Given the description of an element on the screen output the (x, y) to click on. 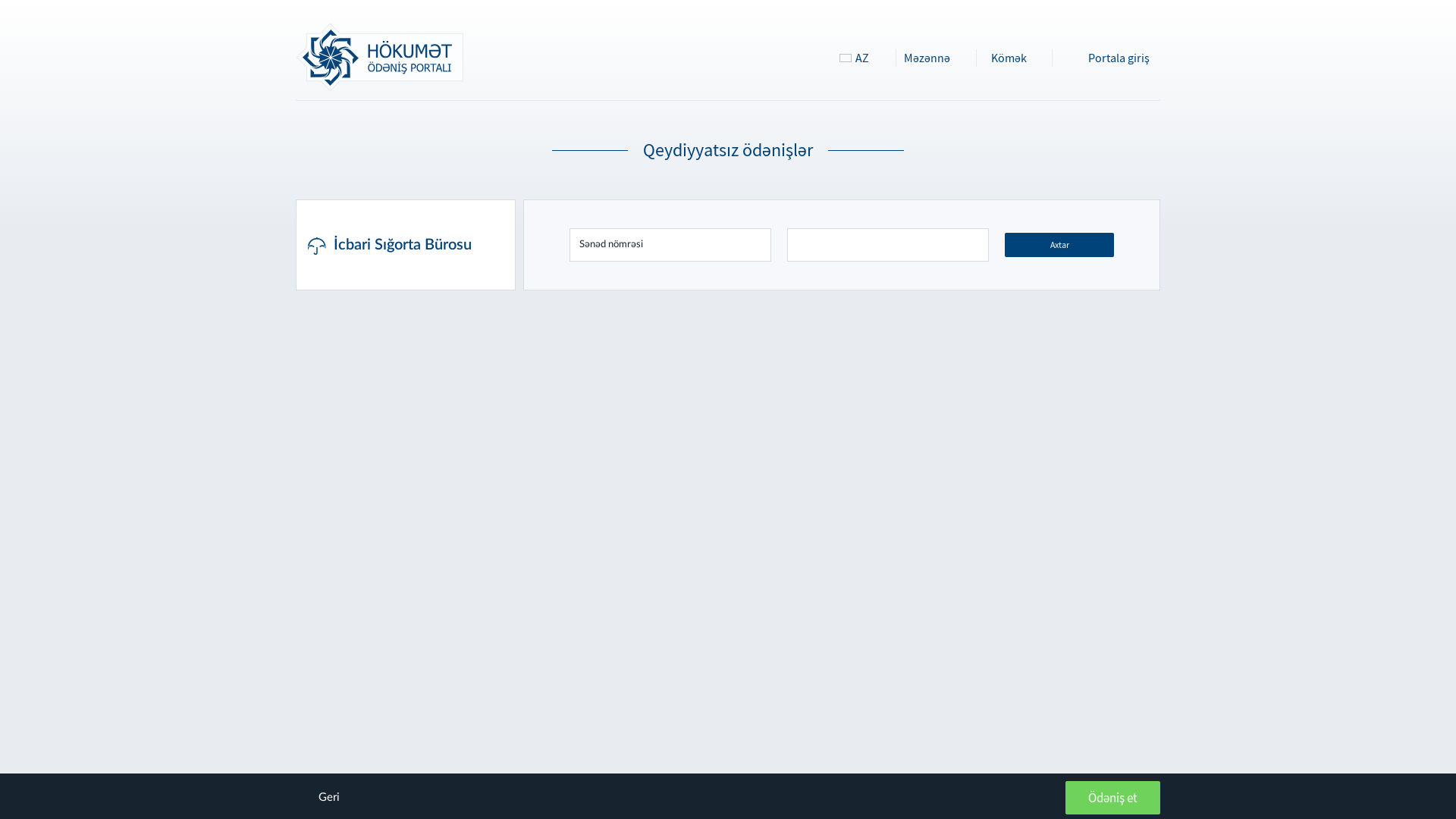
AZ Element type: text (861, 57)
Axtar Element type: text (1058, 244)
Geri Element type: text (328, 797)
